Given the description of an element on the screen output the (x, y) to click on. 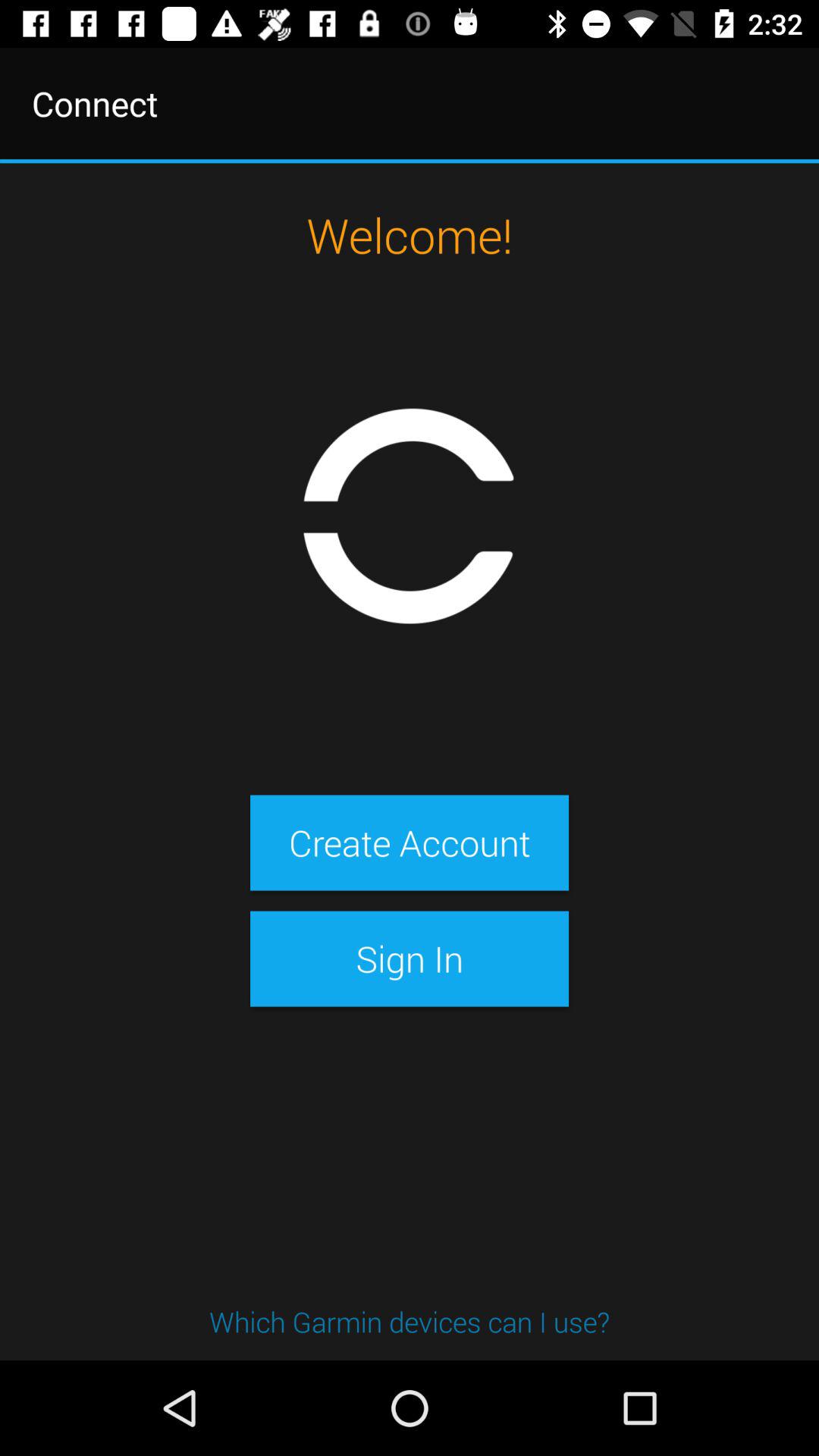
open item above the which garmin devices item (409, 958)
